Given the description of an element on the screen output the (x, y) to click on. 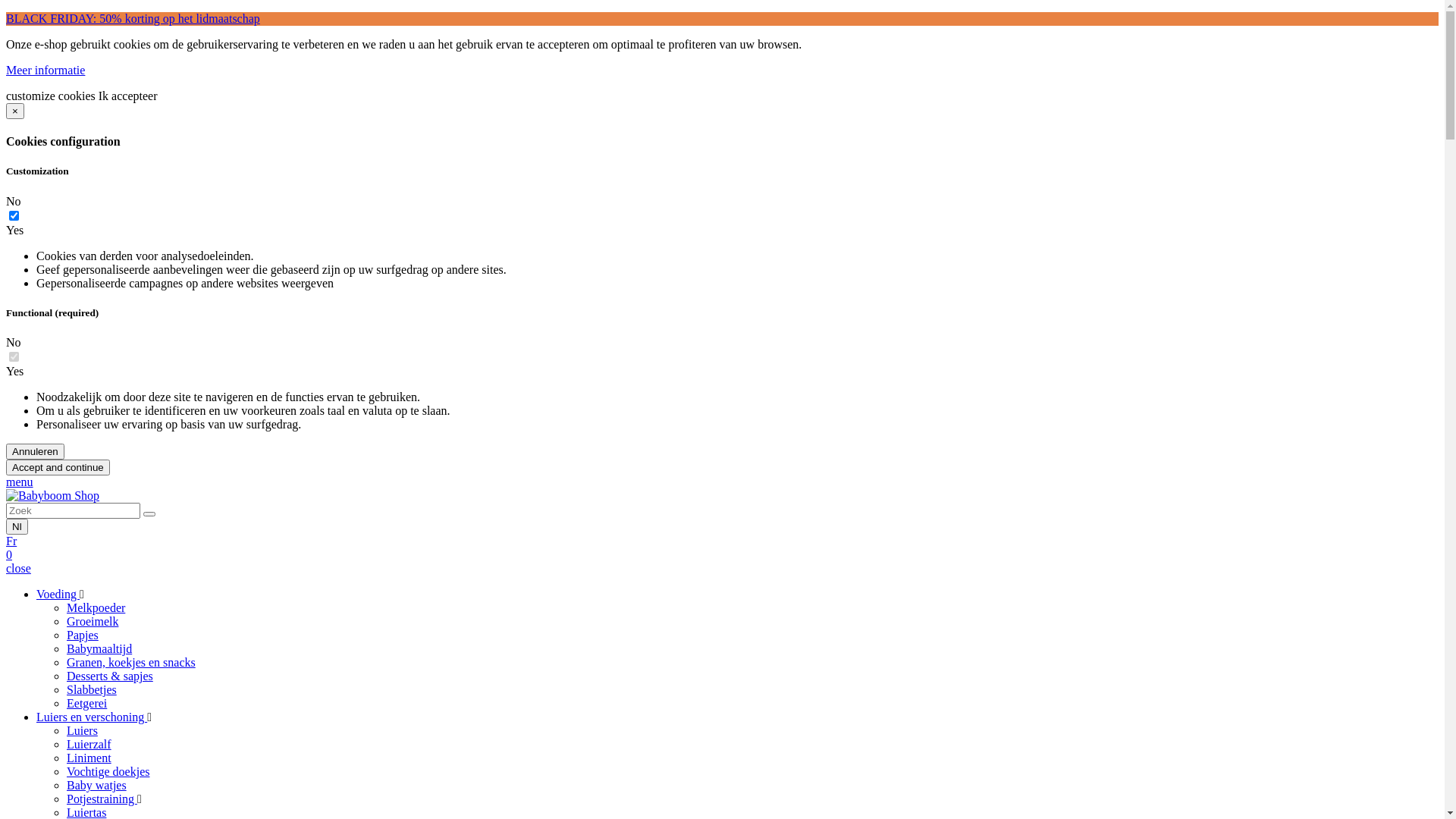
close Element type: text (18, 567)
Slabbetjes Element type: text (91, 689)
Annuleren Element type: text (35, 451)
menu Element type: text (19, 481)
Babymaaltijd Element type: text (98, 648)
Papjes Element type: text (82, 634)
Fr Element type: text (11, 540)
Eetgerei Element type: text (86, 702)
Meer informatie Element type: text (45, 69)
Potjestraining Element type: text (101, 798)
Accept and continue Element type: text (57, 467)
Desserts & sapjes Element type: text (109, 675)
Luiers Element type: text (81, 730)
Vochtige doekjes Element type: text (107, 771)
BLACK FRIDAY: 50% korting op het lidmaatschap Element type: text (133, 18)
Luierzalf Element type: text (88, 743)
0 Element type: text (9, 554)
Granen, koekjes en snacks Element type: text (130, 661)
Nl Element type: text (17, 526)
Luiers en verschoning Element type: text (91, 716)
Ik accepteer Element type: text (127, 95)
Voeding Element type: text (57, 593)
Groeimelk Element type: text (92, 621)
customize cookies Element type: text (52, 95)
Melkpoeder Element type: text (95, 607)
Zoeken Element type: hover (149, 513)
Liniment Element type: text (88, 757)
Baby watjes Element type: text (96, 784)
